Given the description of an element on the screen output the (x, y) to click on. 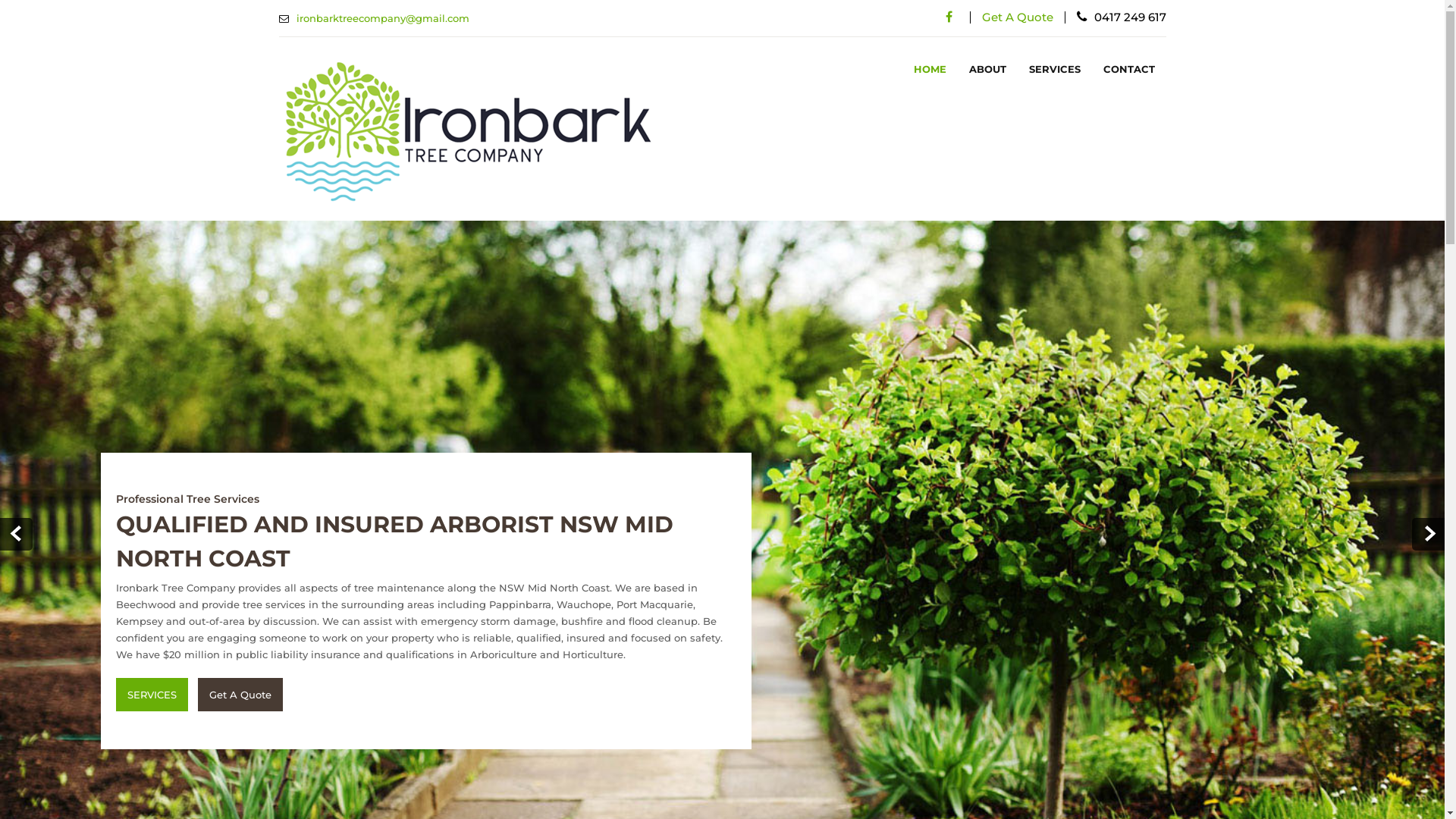
SERVICES Element type: text (152, 694)
HOME Element type: text (929, 69)
Get A Quote Element type: text (1016, 16)
Prev Element type: text (16, 533)
SERVICES Element type: text (1054, 69)
QUALIFIED AND INSURED ARBORIST NSW MID NORTH COAST Element type: text (425, 562)
facebook Element type: hover (948, 16)
Get A Quote Element type: text (239, 694)
ironbarktreecompany@gmail.com Element type: text (381, 18)
ABOUT Element type: text (986, 69)
Next Element type: text (1428, 533)
CONTACT Element type: text (1129, 69)
